Given the description of an element on the screen output the (x, y) to click on. 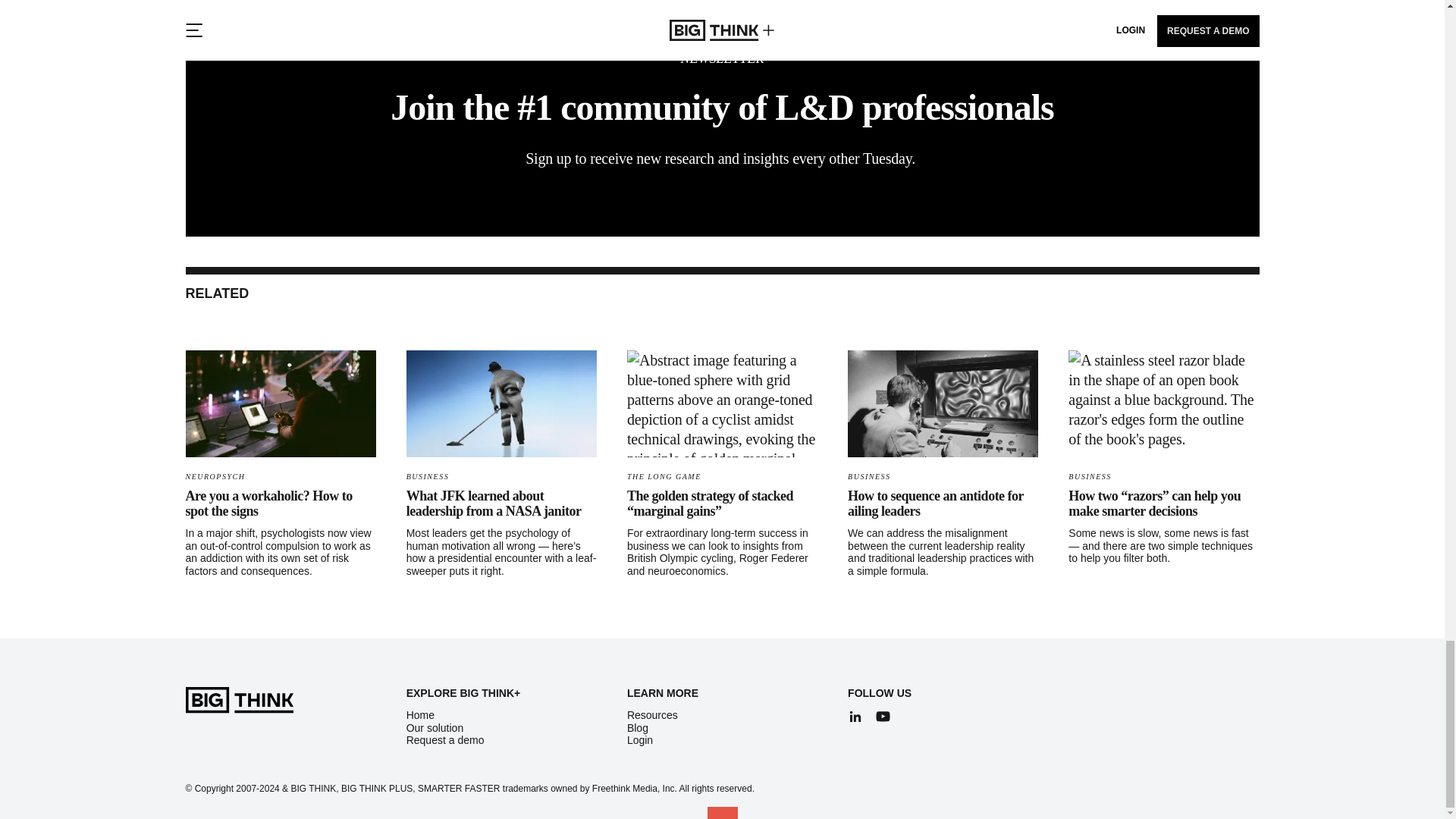
NEUROPSYCH (214, 476)
BUSINESS (427, 476)
THE LONG GAME (664, 476)
What JFK learned about leadership from a NASA janitor (493, 503)
Are you a workaholic? How to spot the signs (268, 503)
